Given the description of an element on the screen output the (x, y) to click on. 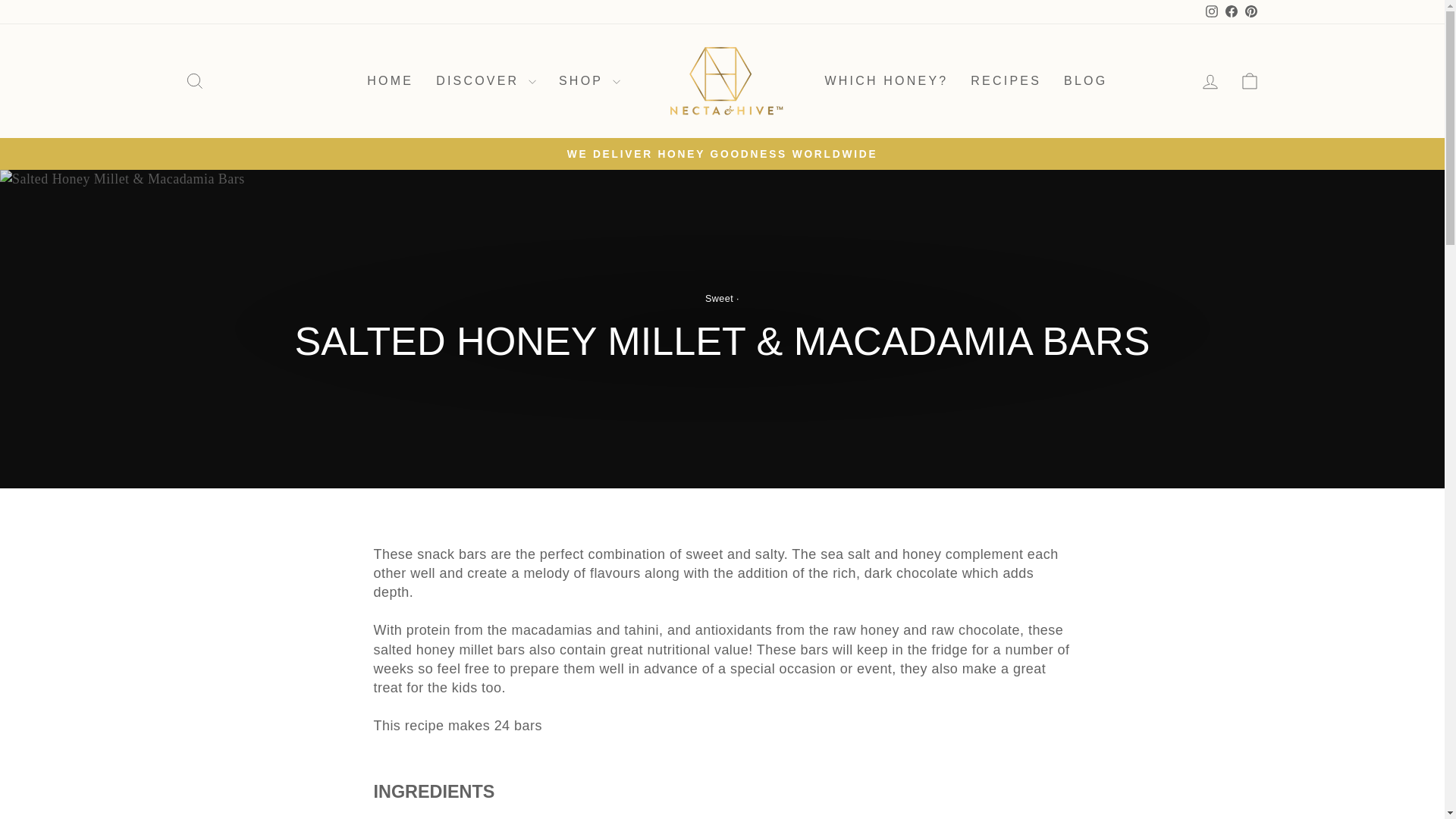
instagram (1211, 10)
ICON-BAG-MINIMAL (1249, 80)
Pinterest (1250, 11)
WHICH HONEY? (885, 81)
BLOG (1085, 81)
ICON-SEARCH (194, 80)
ACCOUNT (1210, 81)
HOME (1211, 11)
RECIPES (390, 81)
Facebook (1005, 81)
